Given the description of an element on the screen output the (x, y) to click on. 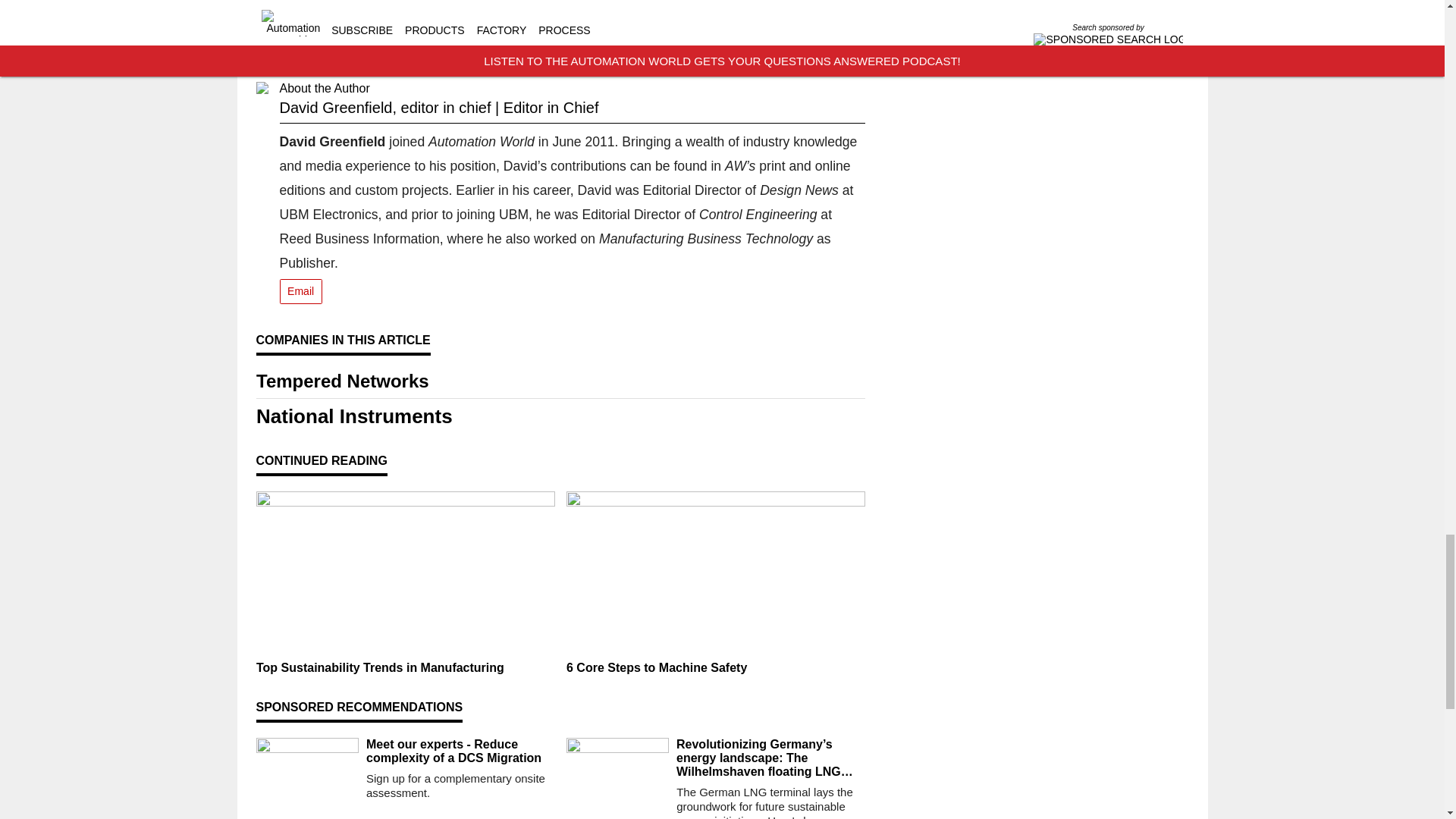
6 Core Steps to Machine Safety (715, 667)
Meet our experts - Reduce complexity of a DCS Migration (459, 750)
National Instruments (560, 416)
Email (300, 291)
Top Sustainability Trends in Manufacturing (405, 667)
Tempered Networks (560, 381)
